Given the description of an element on the screen output the (x, y) to click on. 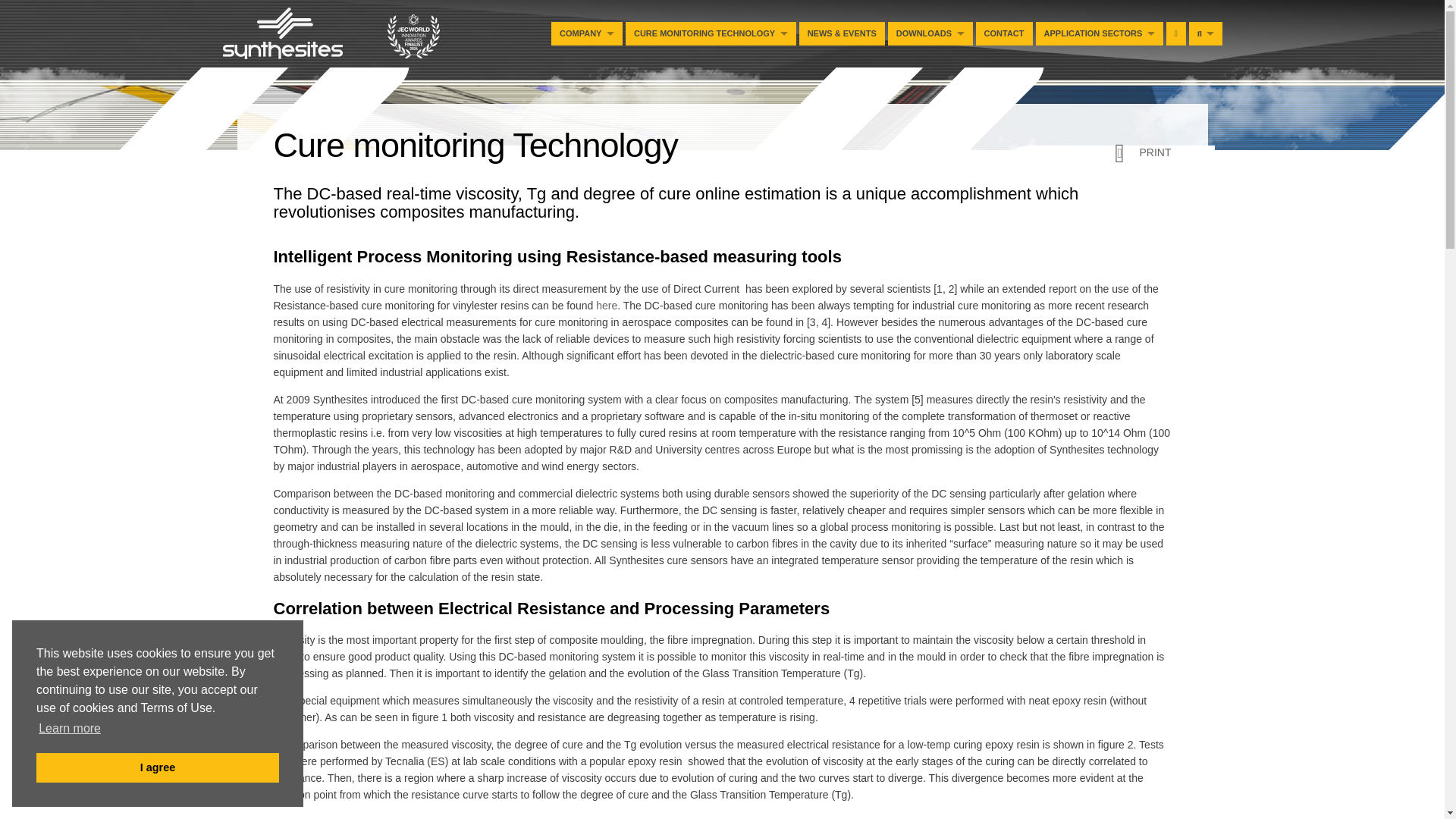
Learn more (69, 728)
CURE MONITORING TECHNOLOGY (711, 33)
APPLICATION SECTORS (1099, 33)
DOWNLOADS (930, 33)
COMPANY (587, 33)
CONTACT (1003, 33)
I agree (157, 767)
